Given the description of an element on the screen output the (x, y) to click on. 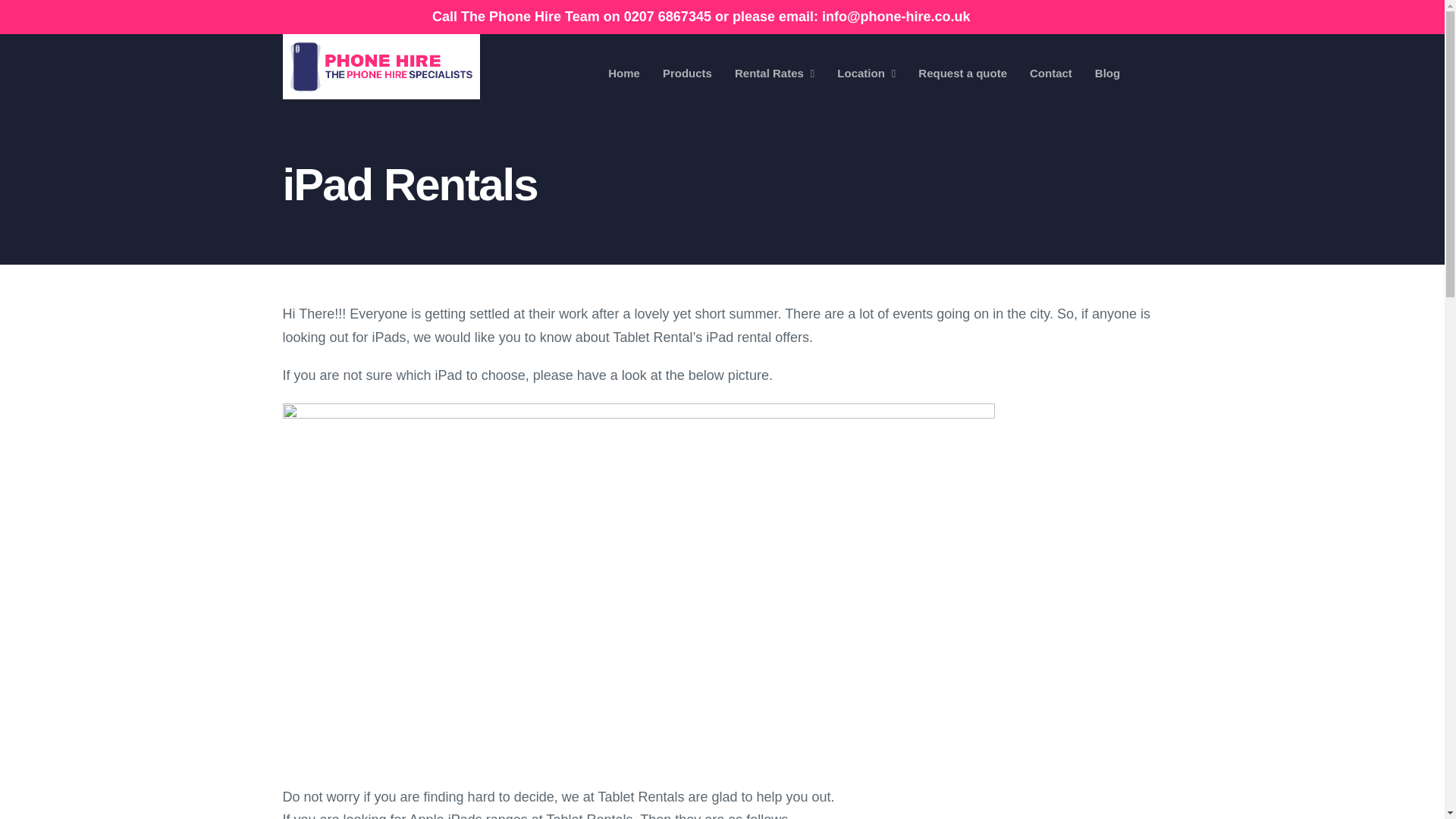
Rental Rates (774, 72)
0207 6867345 (667, 16)
Location (866, 72)
Request a quote (962, 72)
